Given the description of an element on the screen output the (x, y) to click on. 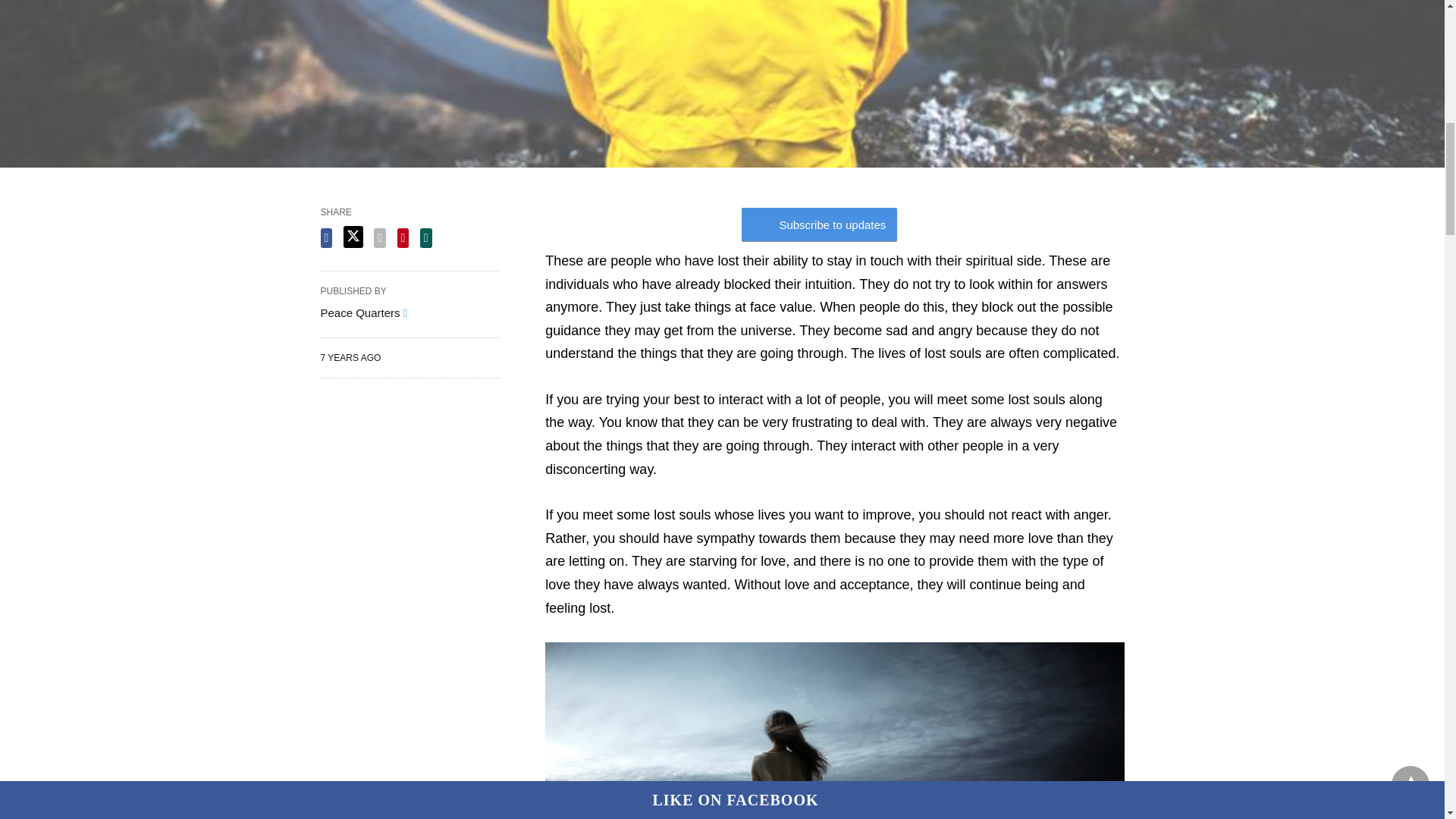
Subscribe to updates (818, 224)
